Given the description of an element on the screen output the (x, y) to click on. 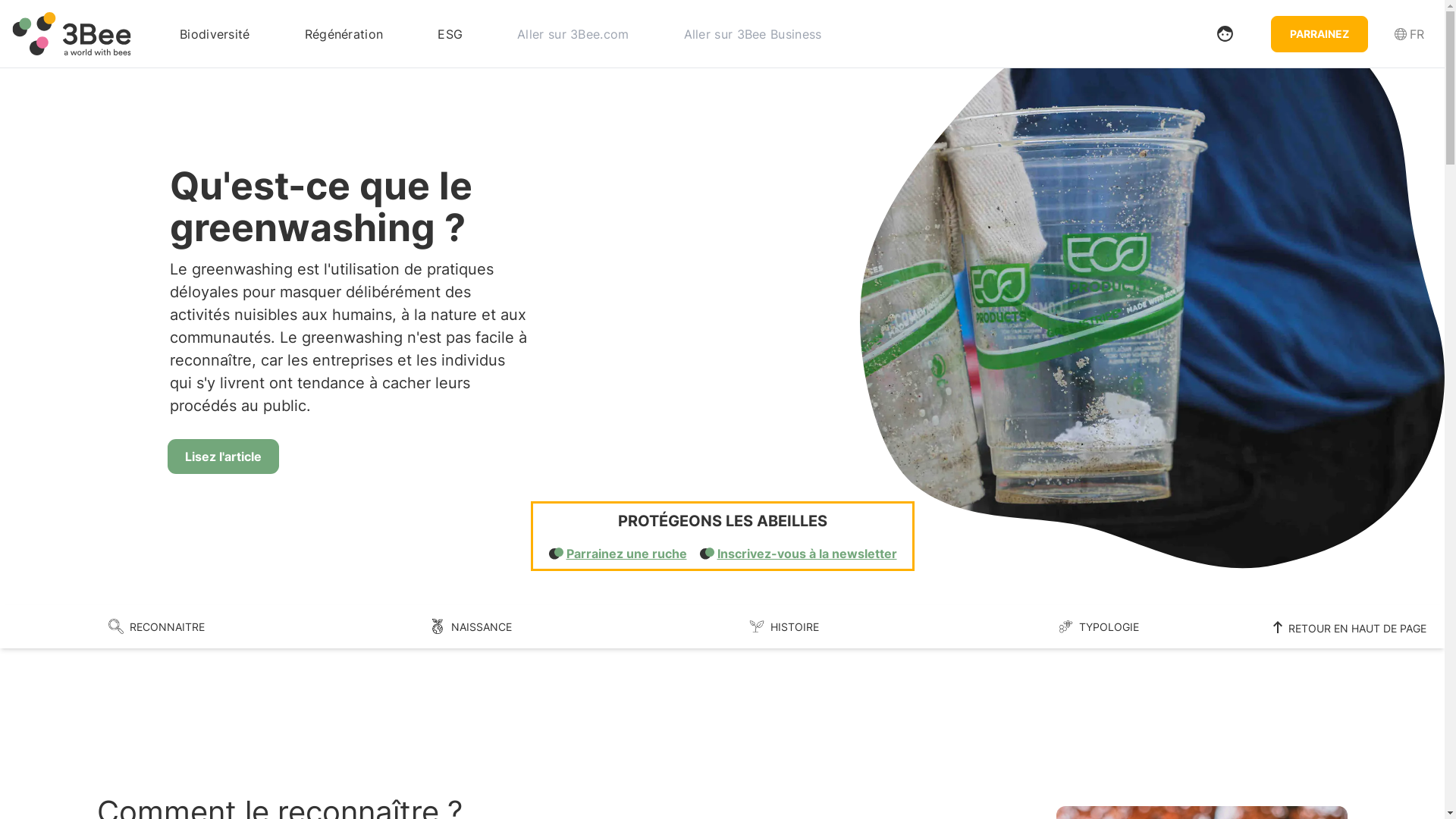
ESG Element type: text (449, 33)
RECONNAITRE Element type: text (156, 626)
TYPOLOGIE Element type: text (1097, 626)
HISTOIRE Element type: text (784, 626)
PARRAINEZ Element type: text (1319, 33)
NAISSANCE Element type: text (470, 626)
Lisez l'article Element type: text (222, 456)
Aller sur 3Bee Business Element type: text (752, 33)
Lisez l'article Element type: text (222, 456)
Aller sur 3Bee.com Element type: text (572, 33)
